Given the description of an element on the screen output the (x, y) to click on. 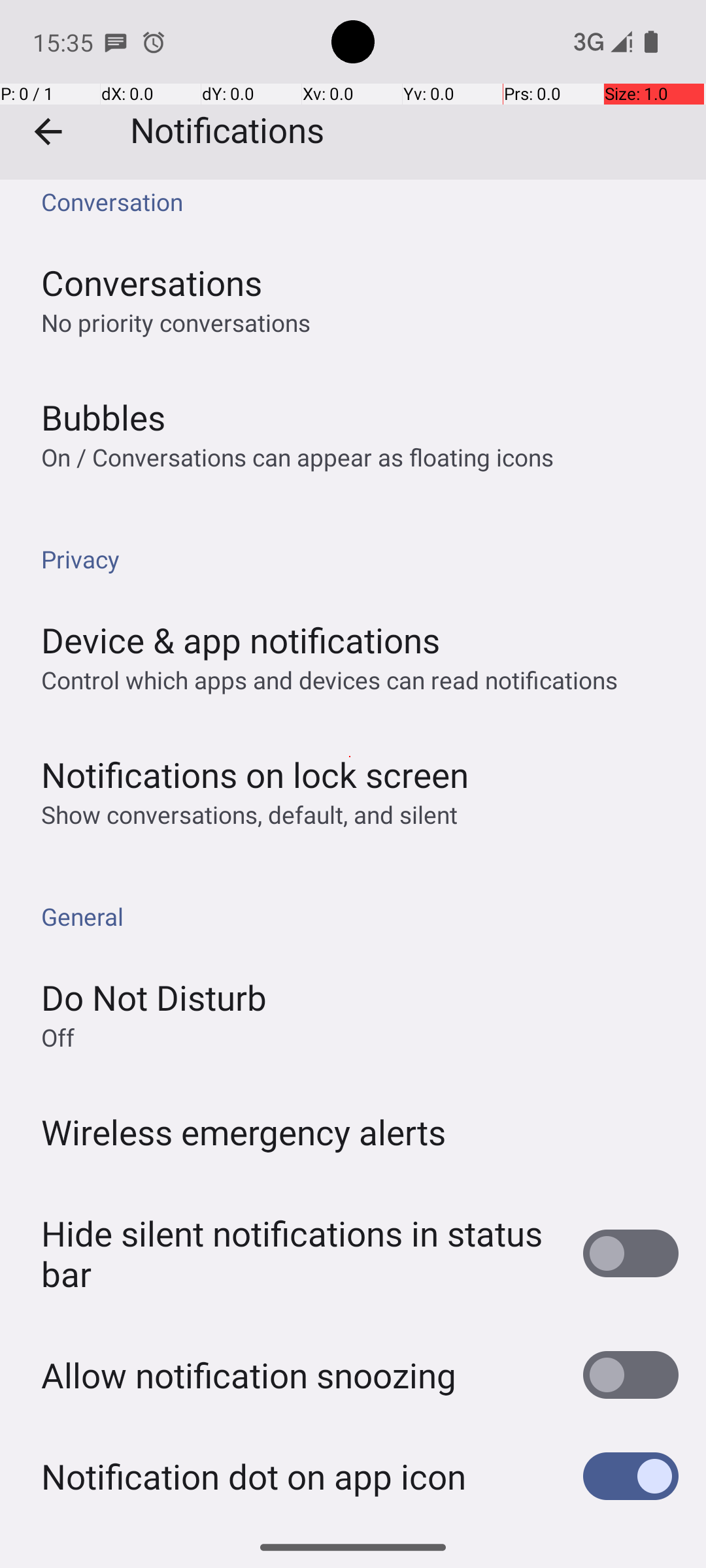
Wireless emergency alerts Element type: android.widget.TextView (243, 1131)
Hide silent notifications in status bar Element type: android.widget.TextView (298, 1252)
Allow notification snoozing Element type: android.widget.TextView (248, 1374)
Notification dot on app icon Element type: android.widget.TextView (253, 1476)
